Given the description of an element on the screen output the (x, y) to click on. 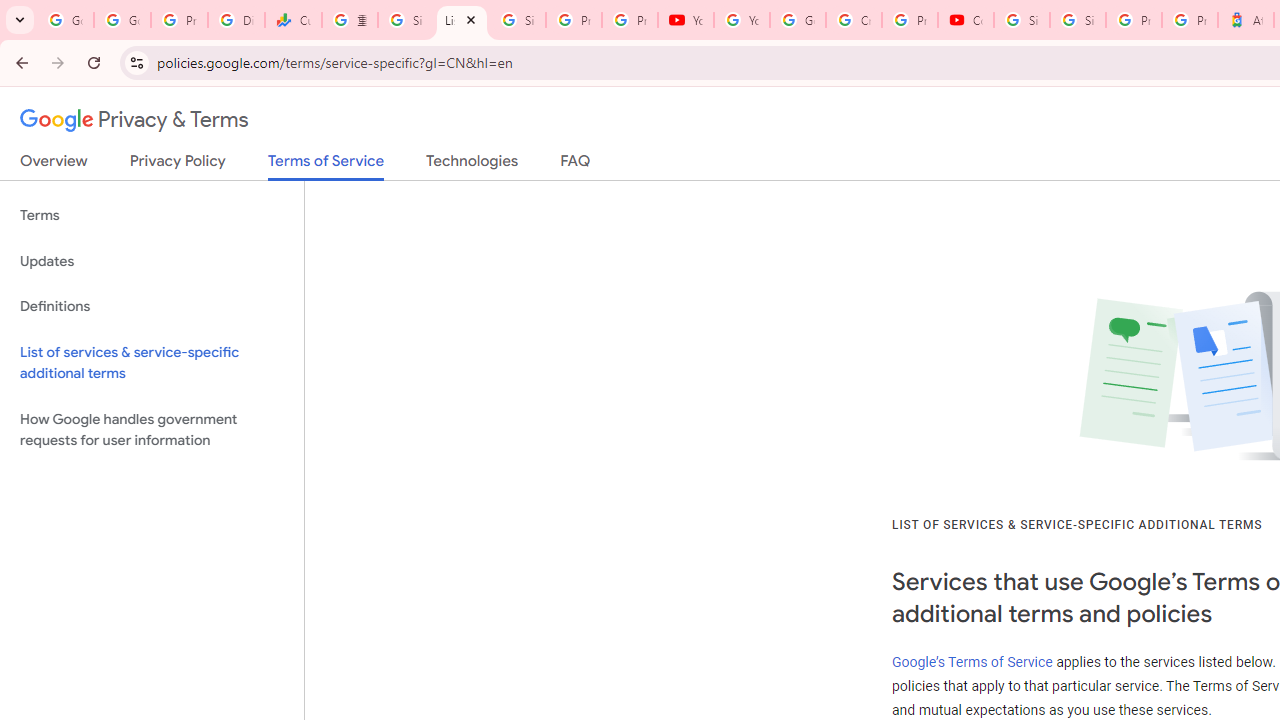
Sign in - Google Accounts (405, 20)
Google Account Help (797, 20)
Privacy Checkup (629, 20)
Content Creator Programs & Opportunities - YouTube Creators (966, 20)
